Given the description of an element on the screen output the (x, y) to click on. 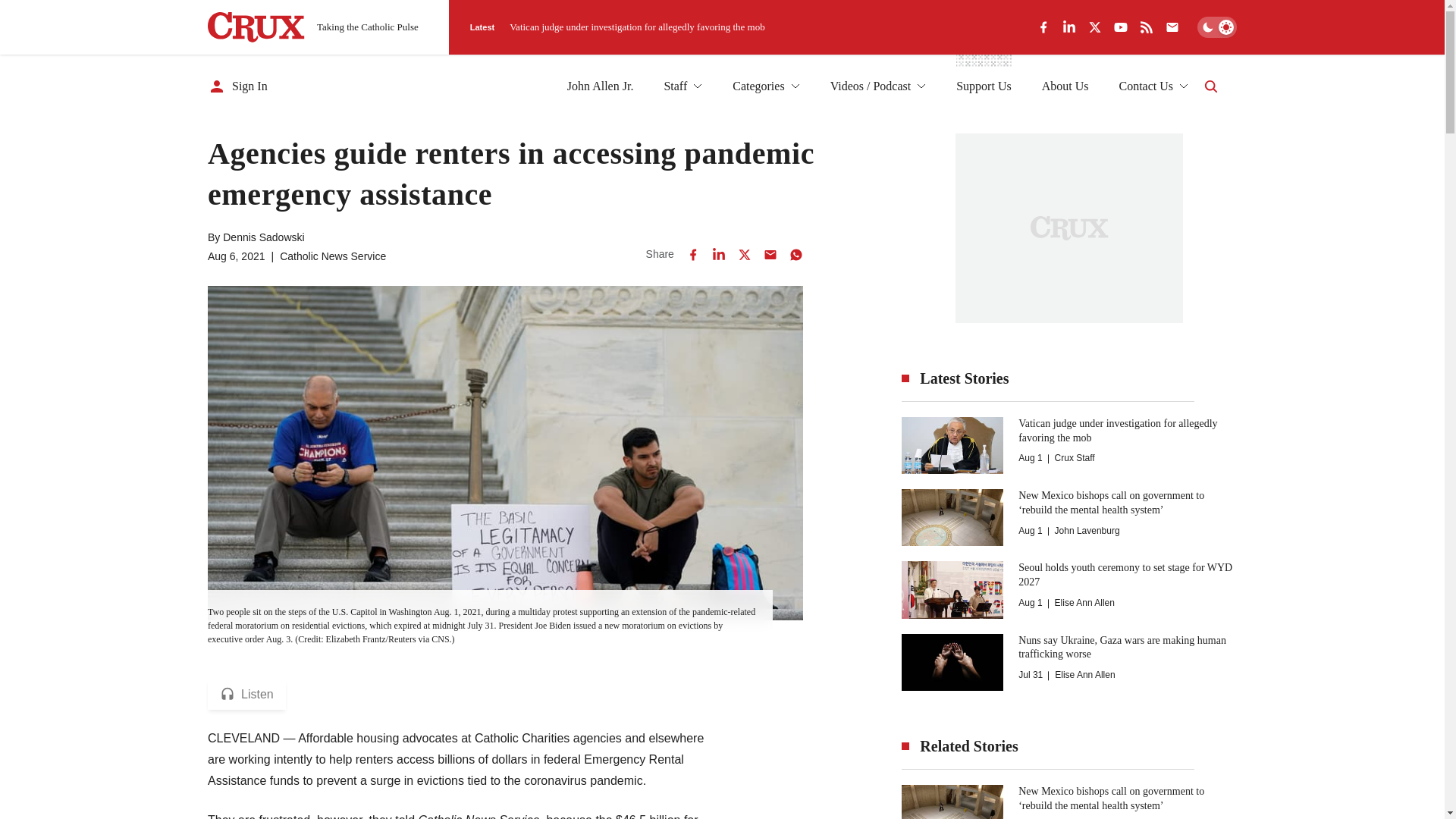
John Allen Jr. (600, 85)
About Us (1065, 85)
Categories (765, 85)
Staff (682, 85)
Support Us (983, 85)
Contact Us (1153, 85)
Sign In (237, 85)
